Given the description of an element on the screen output the (x, y) to click on. 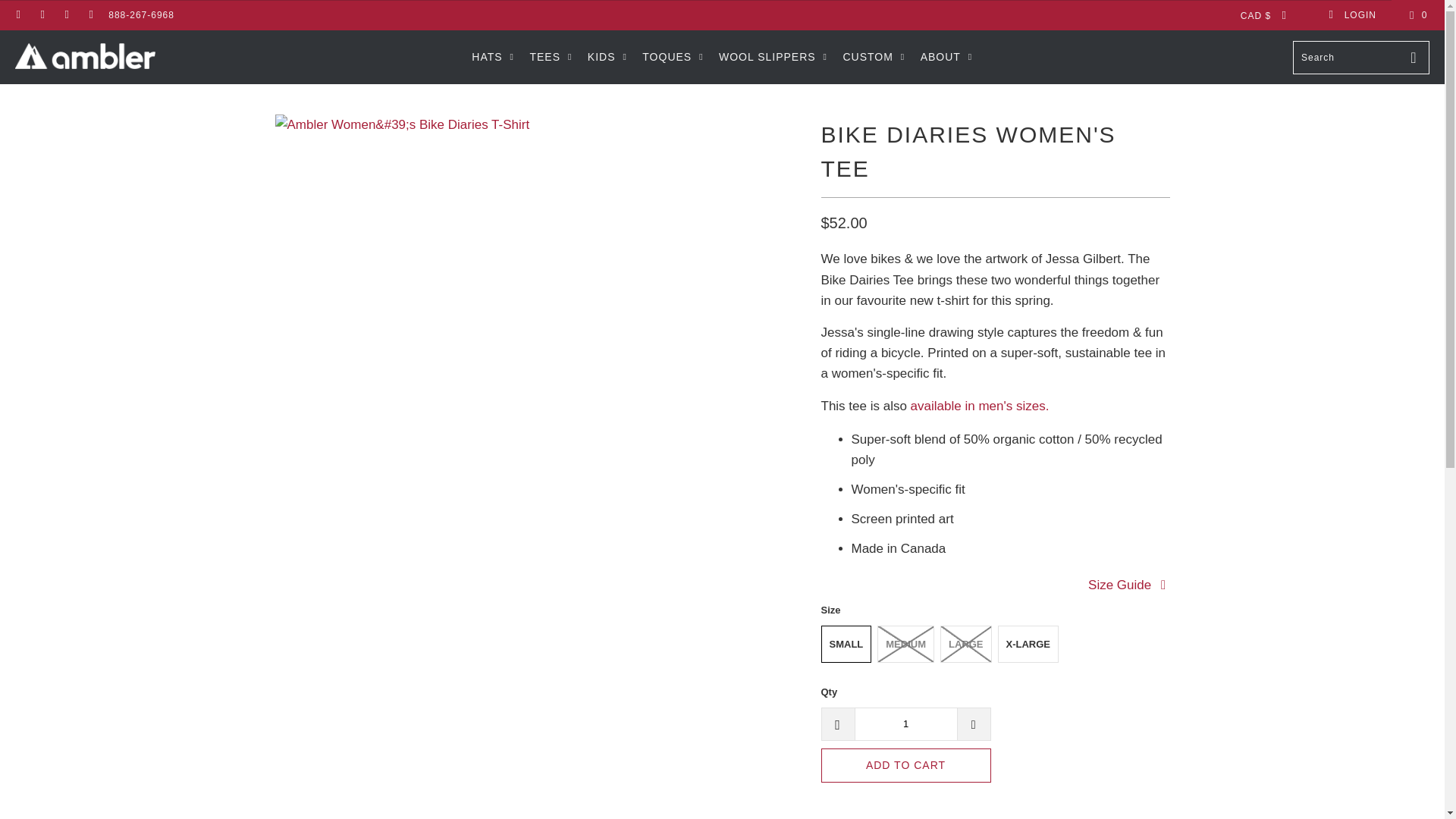
Ambler  (84, 57)
My Account  (1351, 15)
Ambler  on Instagram (41, 14)
Ambler Men's Bike Diaries Tee (980, 405)
Ambler  on LinkedIn (65, 14)
Email Ambler  (90, 14)
1 (904, 724)
Ambler  on Facebook (17, 14)
